Given the description of an element on the screen output the (x, y) to click on. 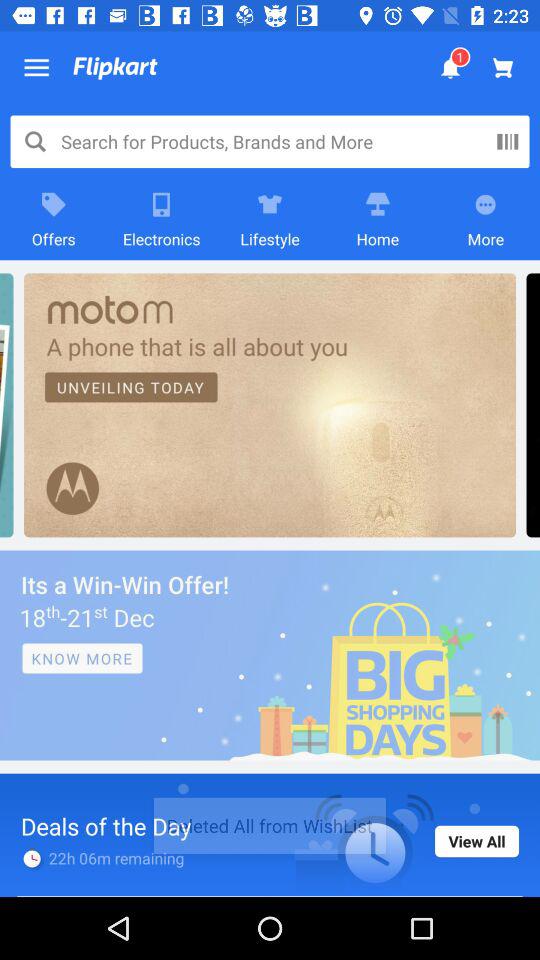
turn off item next to deals of the (477, 841)
